Given the description of an element on the screen output the (x, y) to click on. 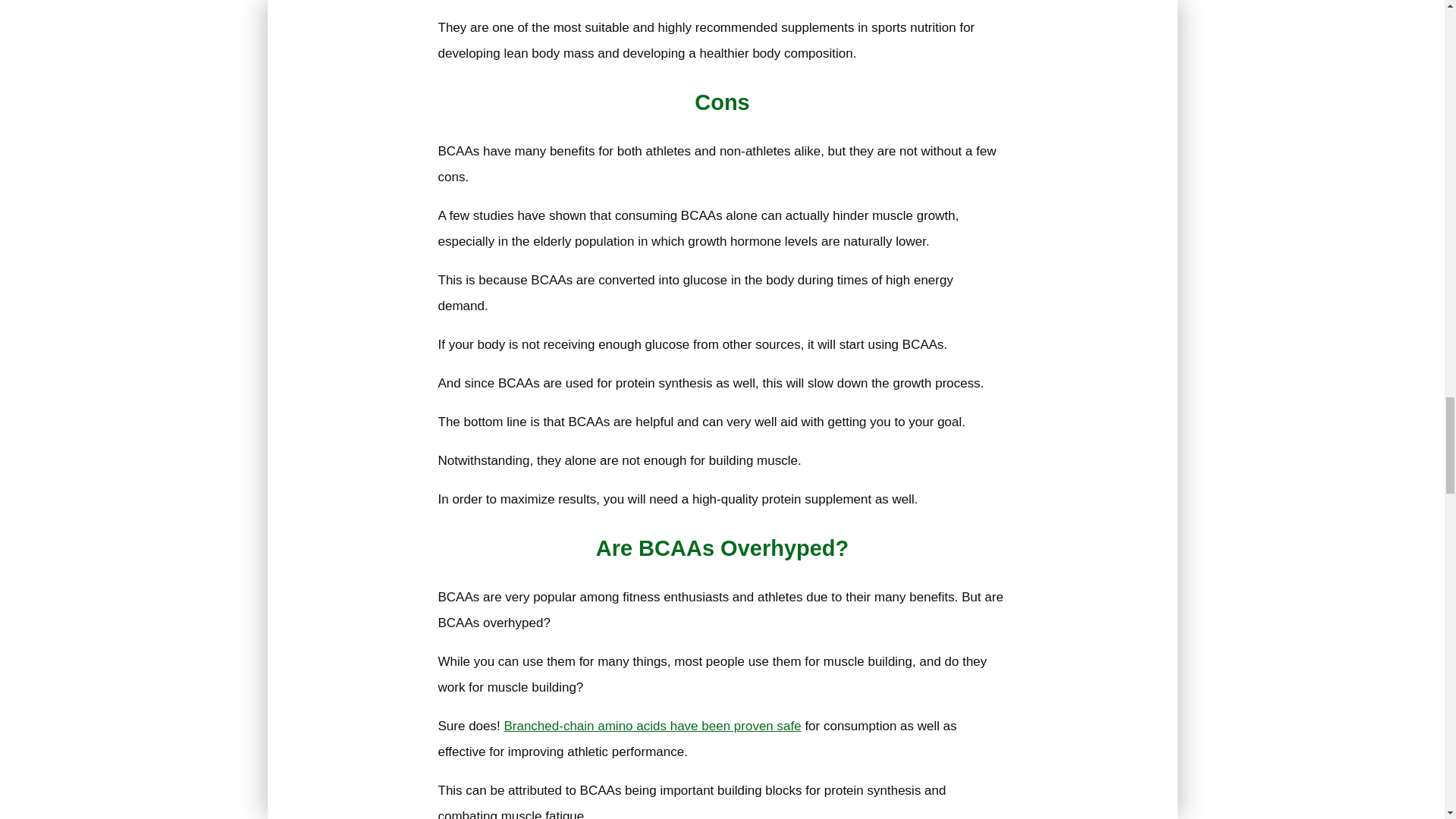
Branched-chain amino acids have been proven safe (651, 726)
